Given the description of an element on the screen output the (x, y) to click on. 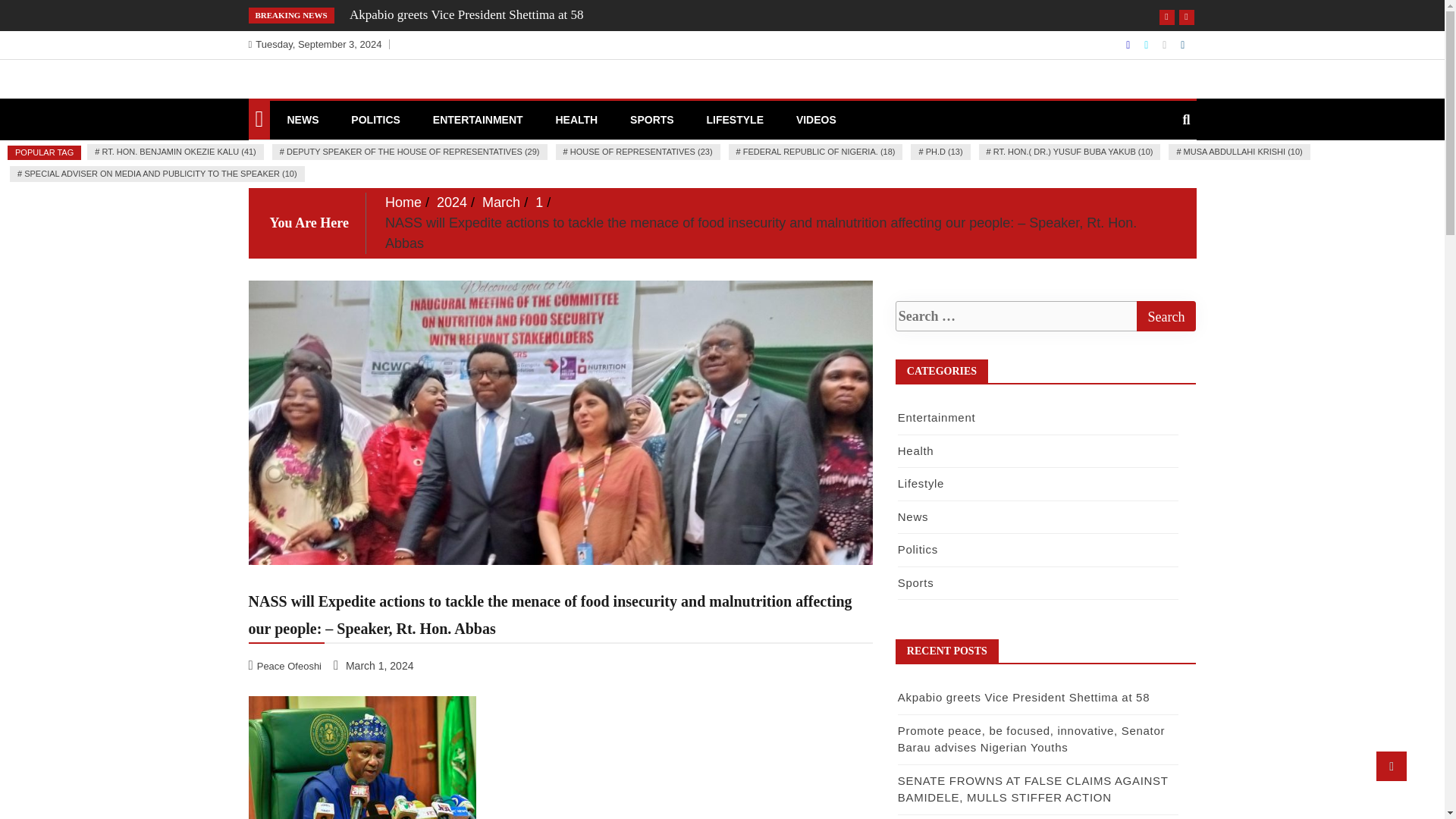
ENTERTAINMENT (478, 119)
POLITICS (375, 119)
VIDEOS (815, 119)
Search (1165, 316)
Search (1165, 316)
Akpabio greets Vice President Shettima at 58 (466, 14)
SPORTS (651, 119)
HEALTH (575, 119)
NEWS (302, 119)
LIFESTYLE (734, 119)
